Given the description of an element on the screen output the (x, y) to click on. 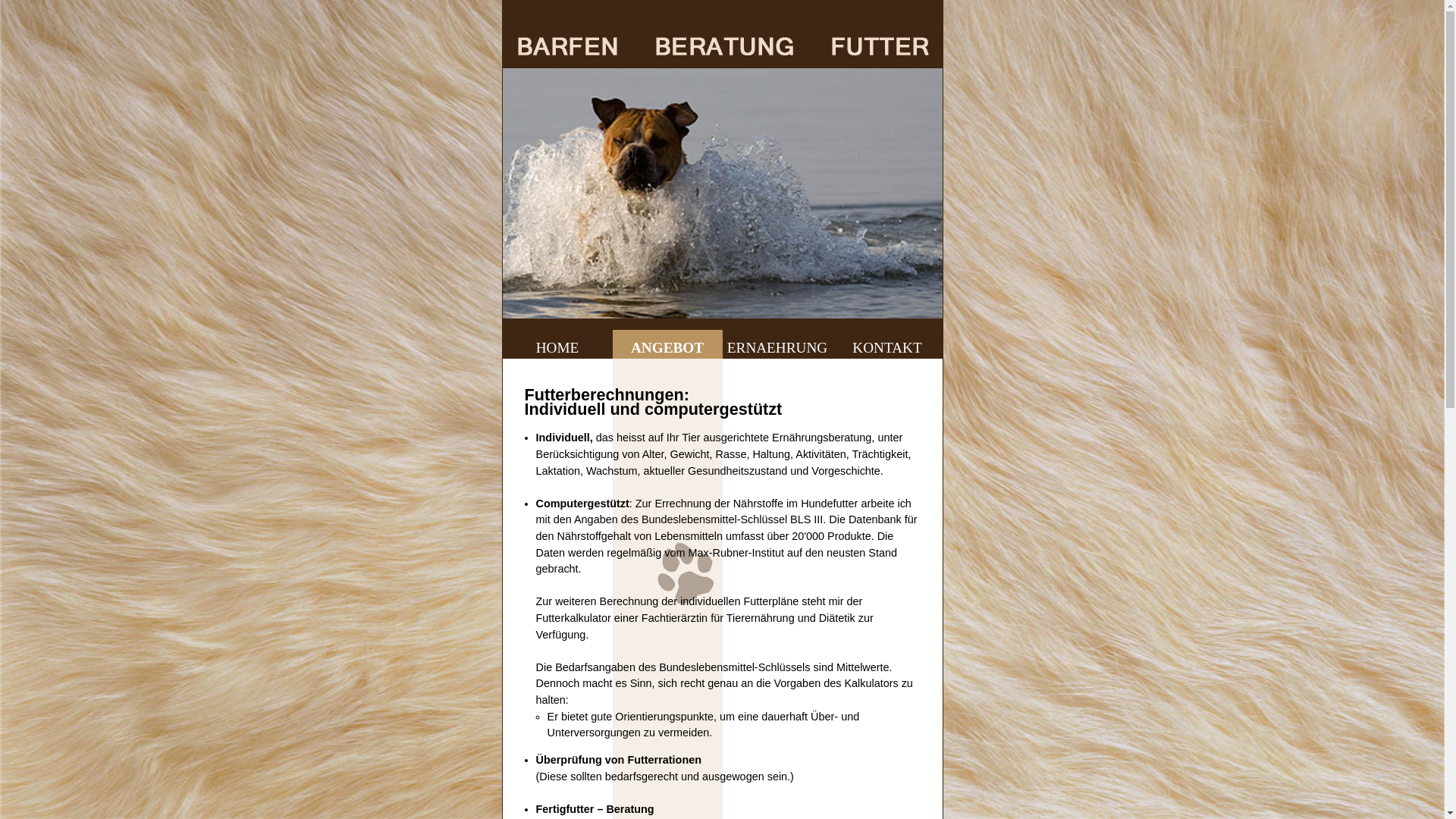
KONTAKT Element type: text (887, 343)
HOME Element type: text (556, 343)
ANGEBOT Element type: text (667, 343)
ERNAEHRUNG Element type: text (776, 343)
